Given the description of an element on the screen output the (x, y) to click on. 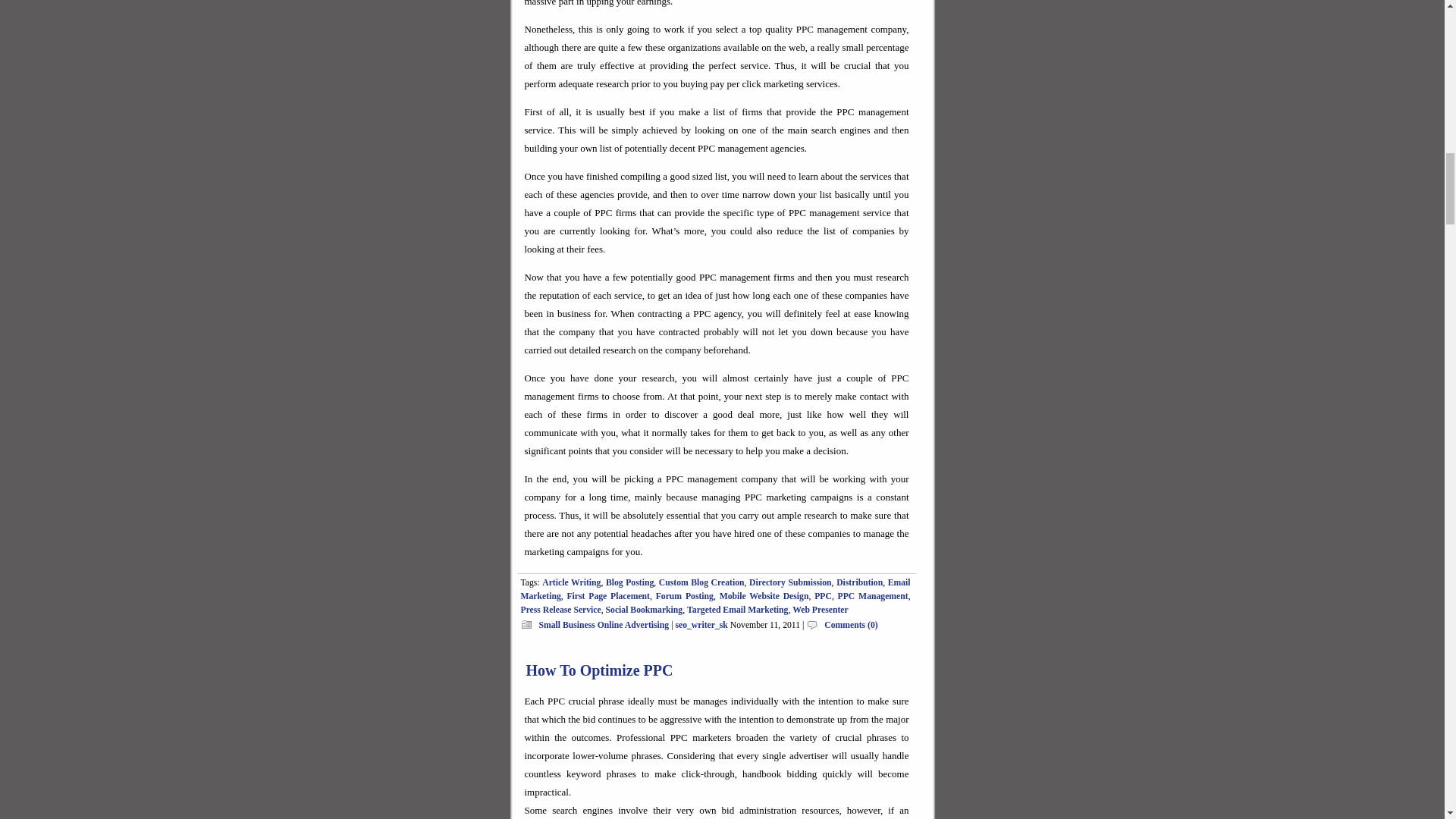
Distribution (858, 583)
Blog Posting (629, 583)
Permanent Link to How To Optimize PPC (598, 669)
View all posts in Small Business Online Advertising (603, 624)
First Page Placement (607, 596)
Article Writing (570, 583)
Forum Posting (684, 596)
Mobile Website Design (764, 596)
Directory Submission (790, 583)
